Given the description of an element on the screen output the (x, y) to click on. 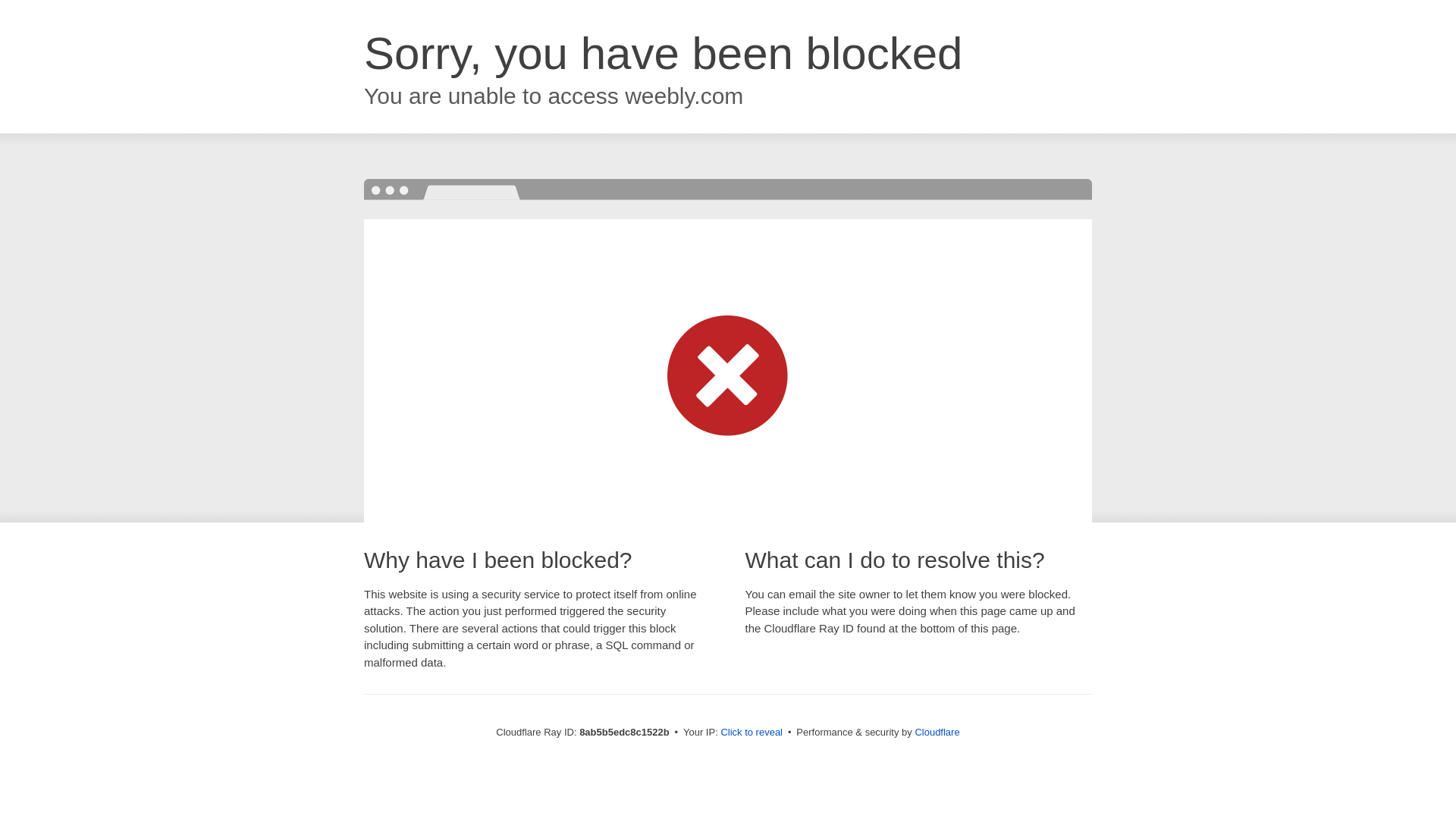
Click to reveal (751, 732)
Cloudflare (936, 731)
